Given the description of an element on the screen output the (x, y) to click on. 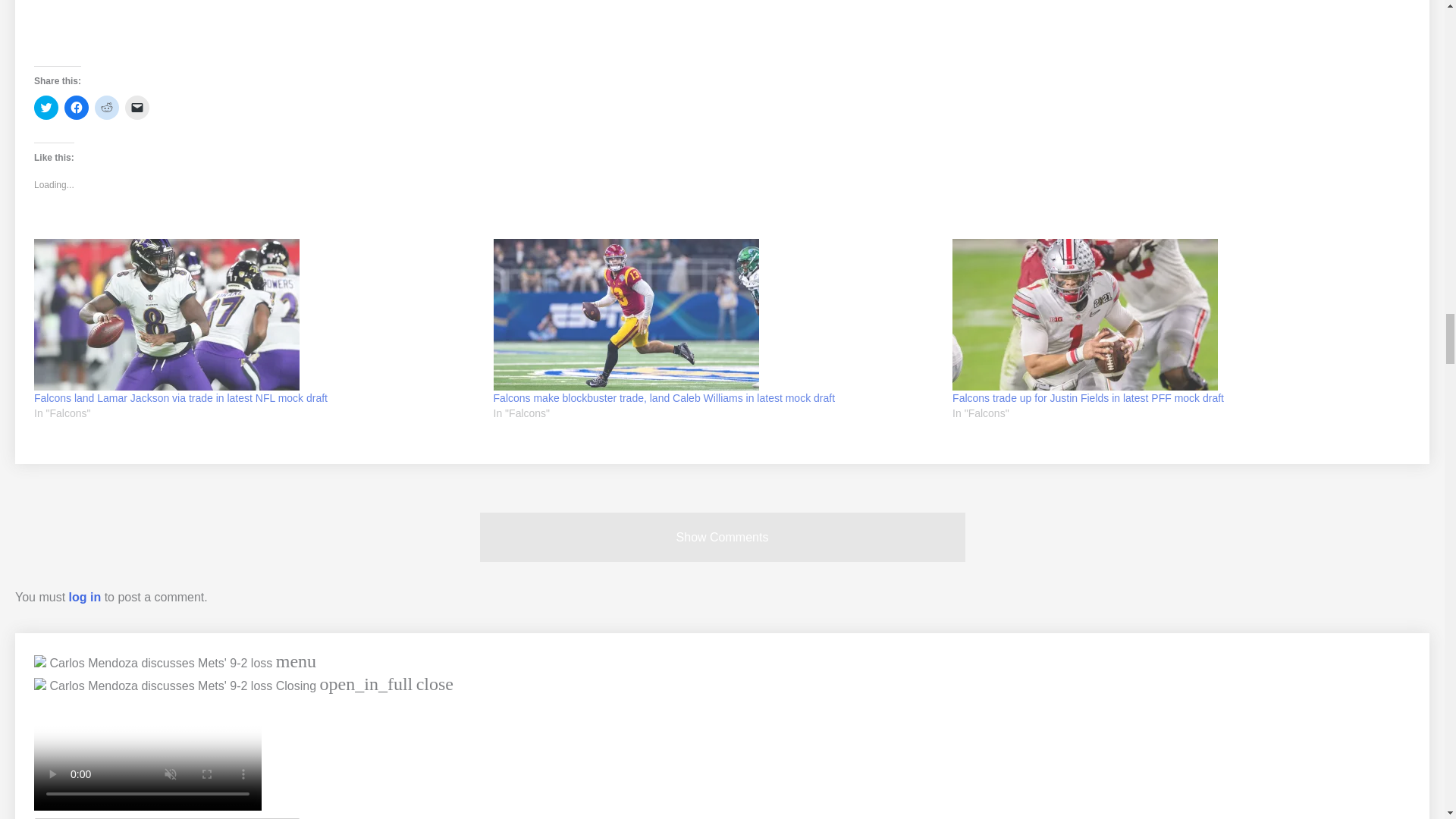
Falcons trade up for Justin Fields in latest PFF mock draft (1088, 398)
Click to email a link to a friend (137, 107)
Click to share on Reddit (106, 107)
Falcons trade up for Justin Fields in latest PFF mock draft (1174, 314)
Click to share on Facebook (76, 107)
Click to share on Twitter (45, 107)
